Given the description of an element on the screen output the (x, y) to click on. 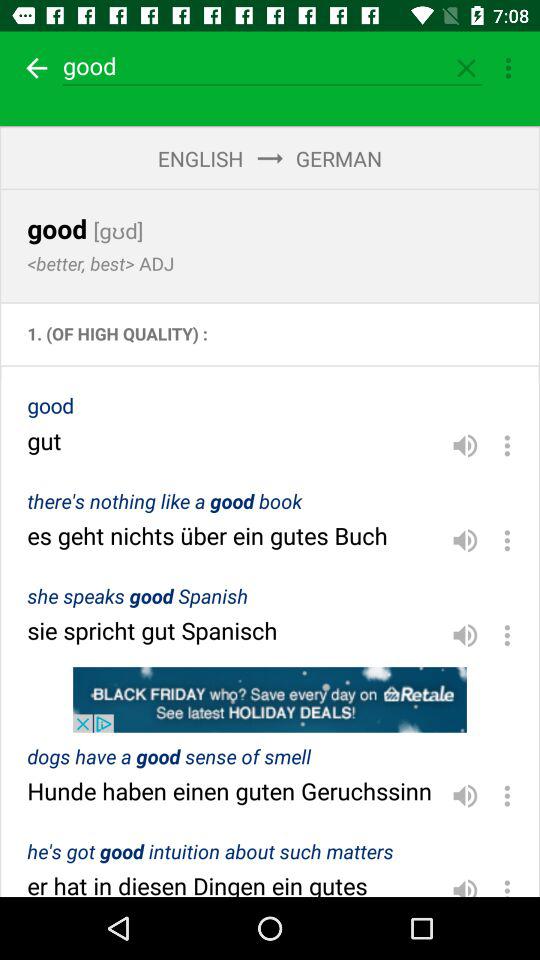
play sound (465, 796)
